Given the description of an element on the screen output the (x, y) to click on. 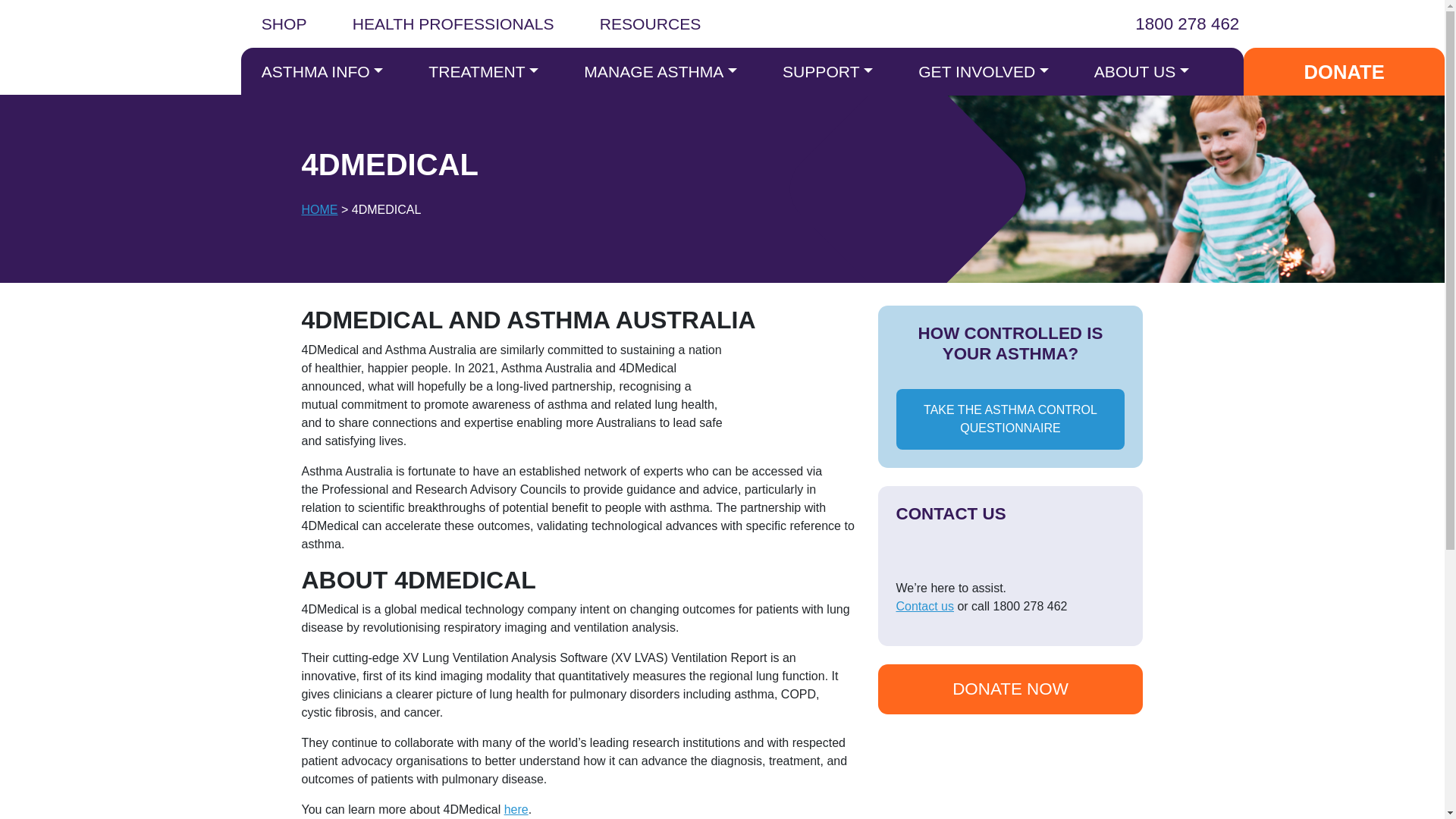
SUPPORT (827, 71)
MANAGE ASTHMA (660, 71)
SHOP (284, 27)
Resources (650, 27)
ASTHMA INFO (322, 71)
Health Professionals (452, 27)
HEALTH PROFESSIONALS (452, 27)
Asthma Info (322, 71)
Treatment (483, 71)
Shop (284, 27)
